Given the description of an element on the screen output the (x, y) to click on. 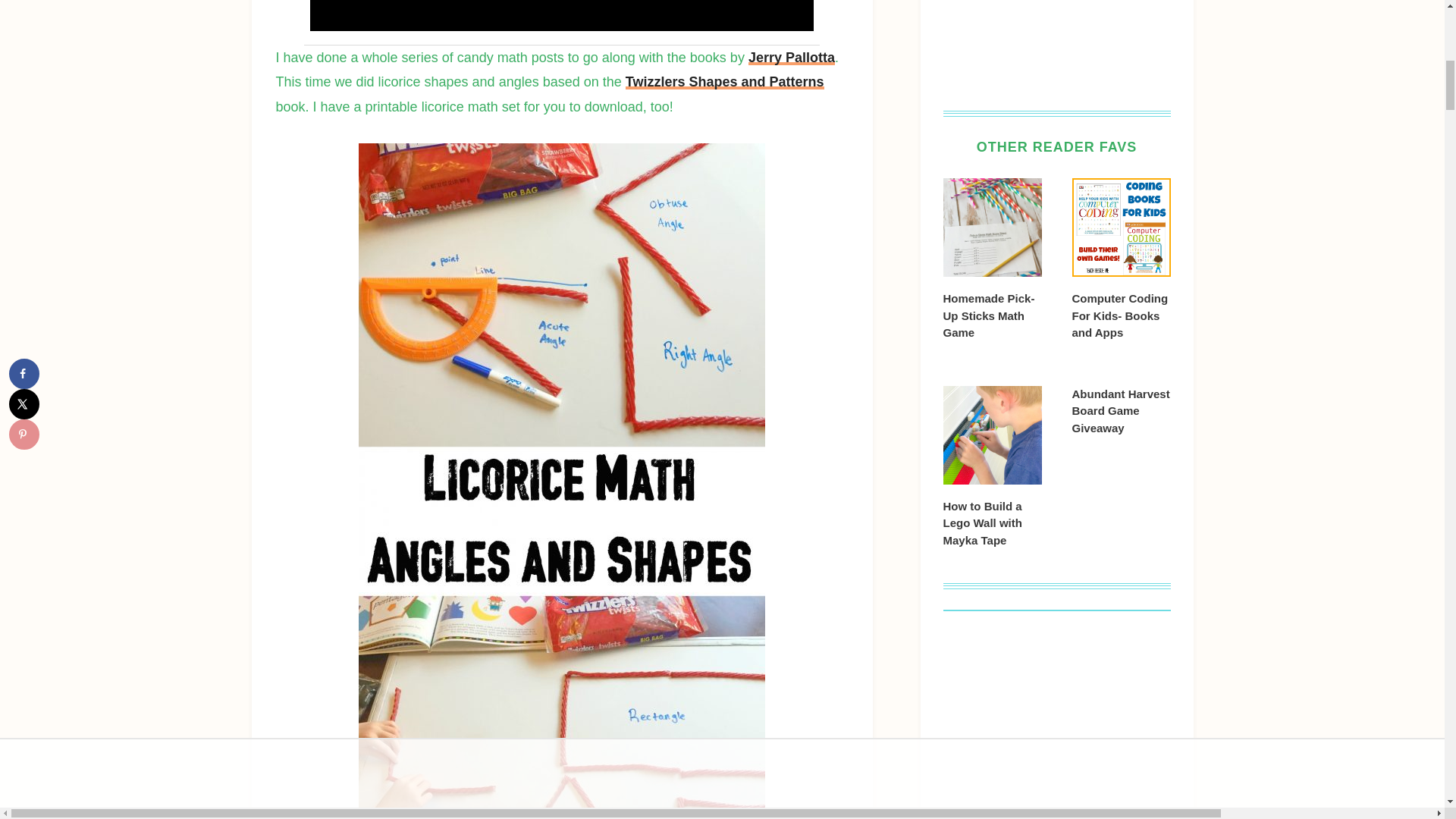
Twizzlers Shapes and Patterns (725, 81)
Jerry Pallotta (791, 57)
